Given the description of an element on the screen output the (x, y) to click on. 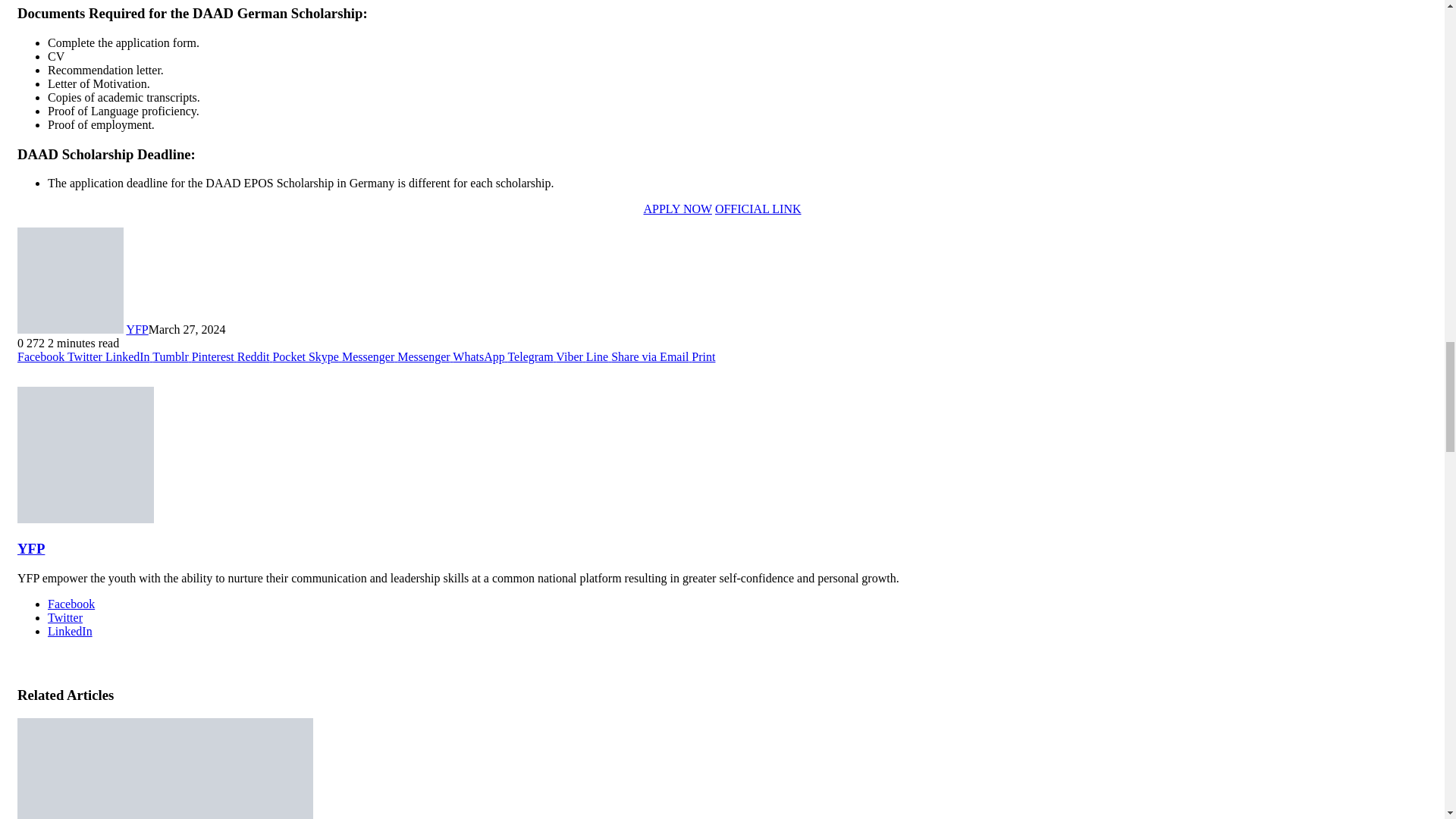
Skype (325, 356)
LinkedIn (128, 356)
Facebook (41, 356)
Twitter (85, 356)
Reddit (255, 356)
YFP (136, 328)
Pocket (290, 356)
Pinterest (214, 356)
Tumblr (171, 356)
